Given the description of an element on the screen output the (x, y) to click on. 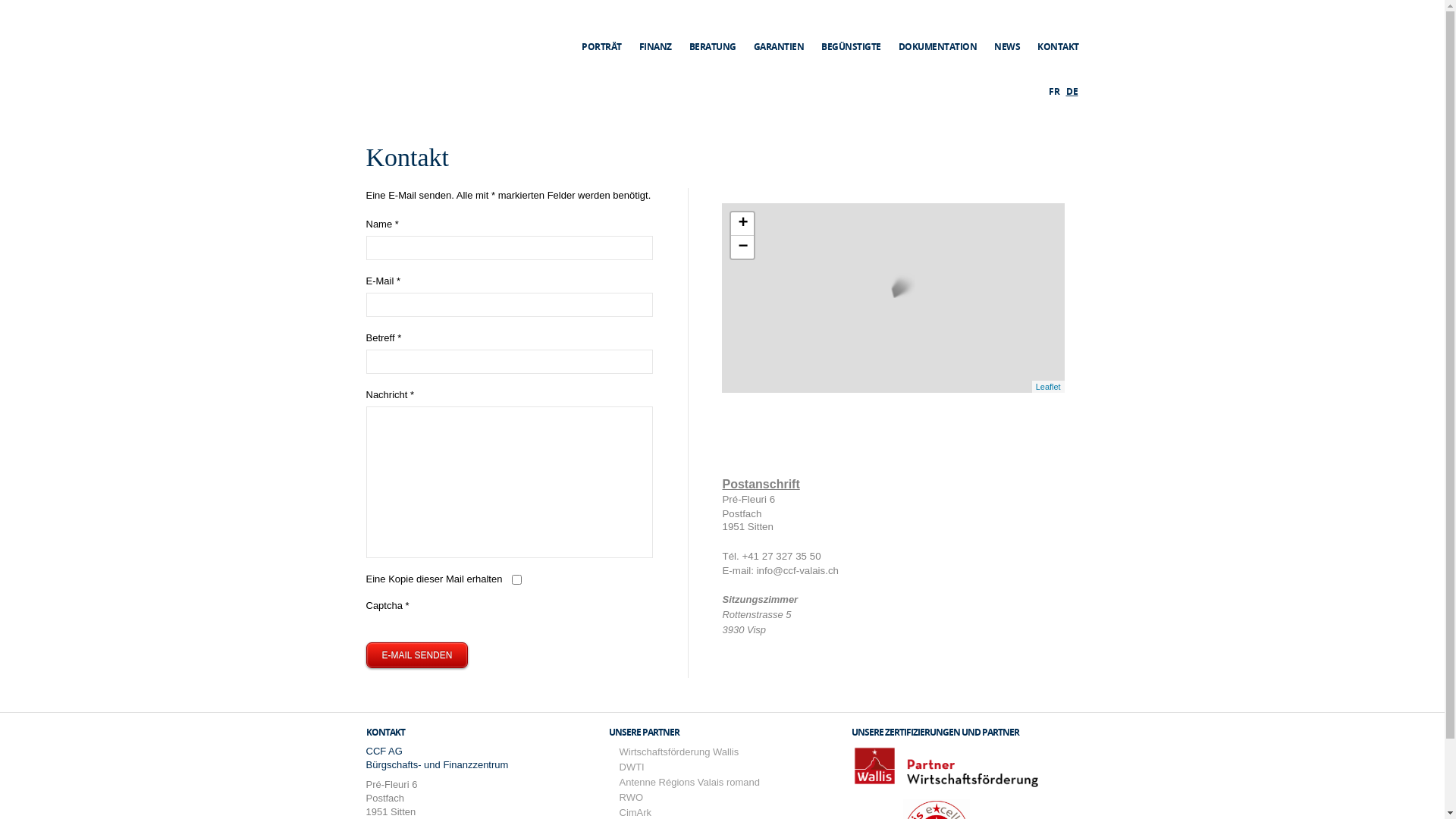
E-MAIL SENDEN Element type: text (416, 655)
DWTI Element type: text (630, 766)
DE Element type: text (1072, 90)
DOKUMENTATION Element type: text (936, 32)
CimArk Element type: text (634, 812)
RWO Element type: text (630, 797)
+ Element type: text (742, 223)
FR Element type: text (1054, 90)
Leaflet Element type: text (1047, 386)
KONTAKT Element type: text (1058, 32)
NEWS Element type: text (1006, 32)
